Given the description of an element on the screen output the (x, y) to click on. 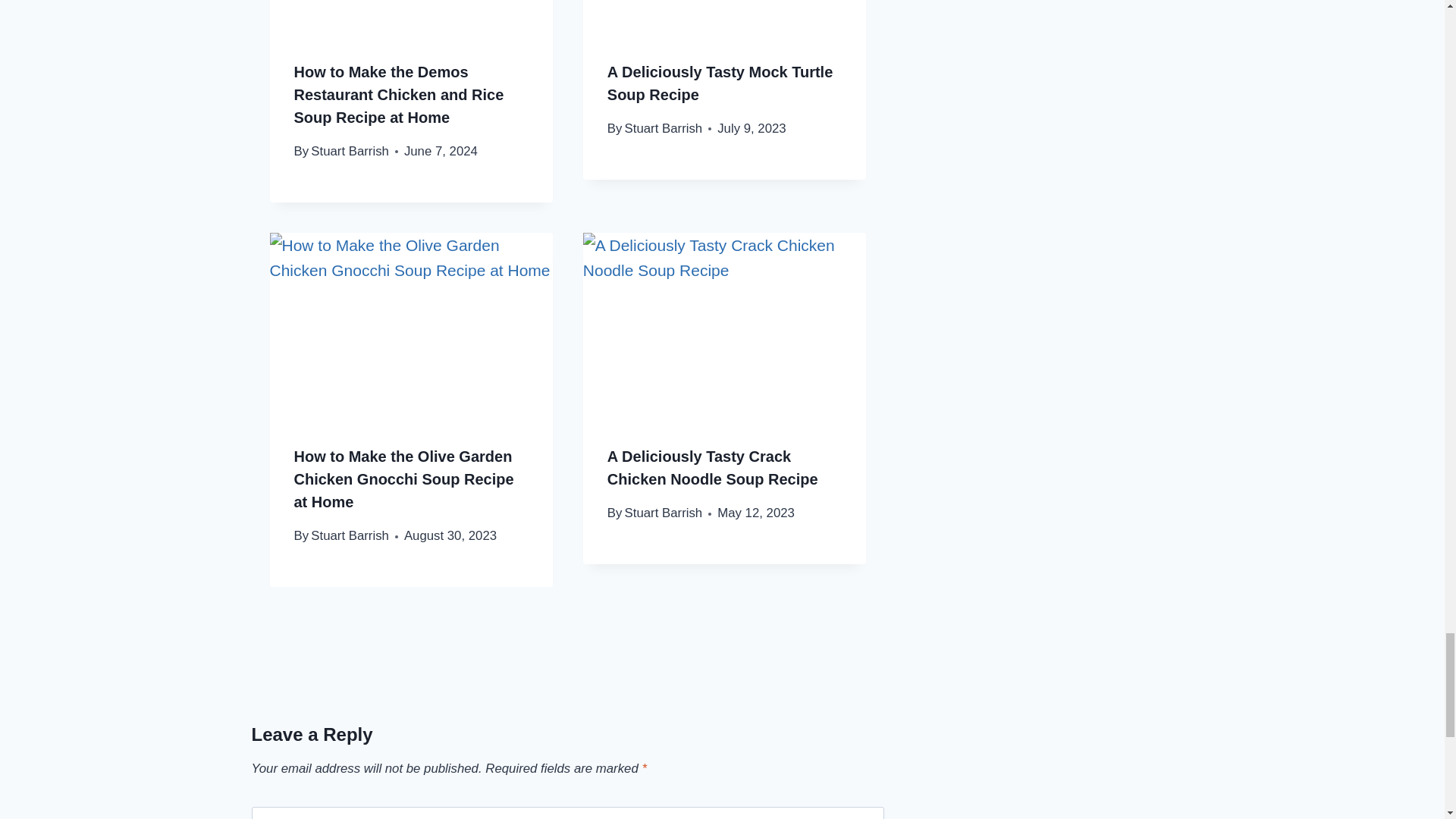
Stuart Barrish (349, 151)
